Given the description of an element on the screen output the (x, y) to click on. 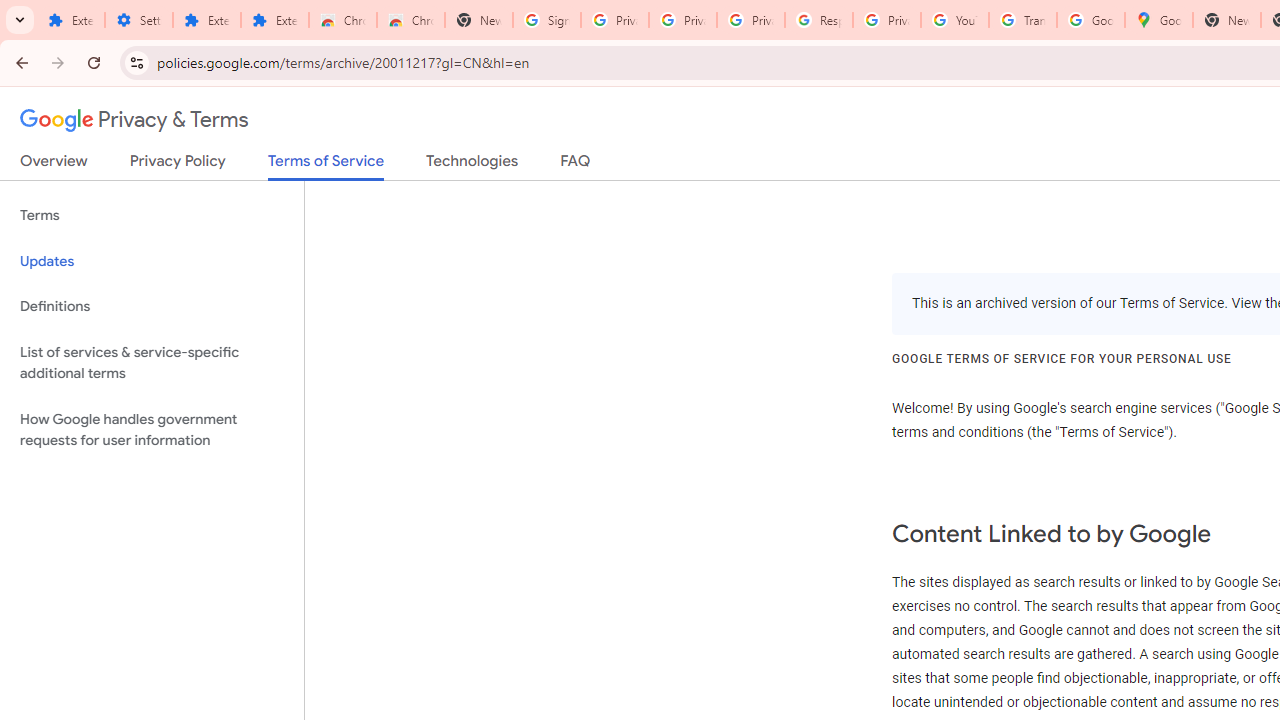
New Tab (1226, 20)
Updates (152, 261)
How Google handles government requests for user information (152, 429)
New Tab (479, 20)
Definitions (152, 306)
Google Maps (1158, 20)
Extensions (274, 20)
